Given the description of an element on the screen output the (x, y) to click on. 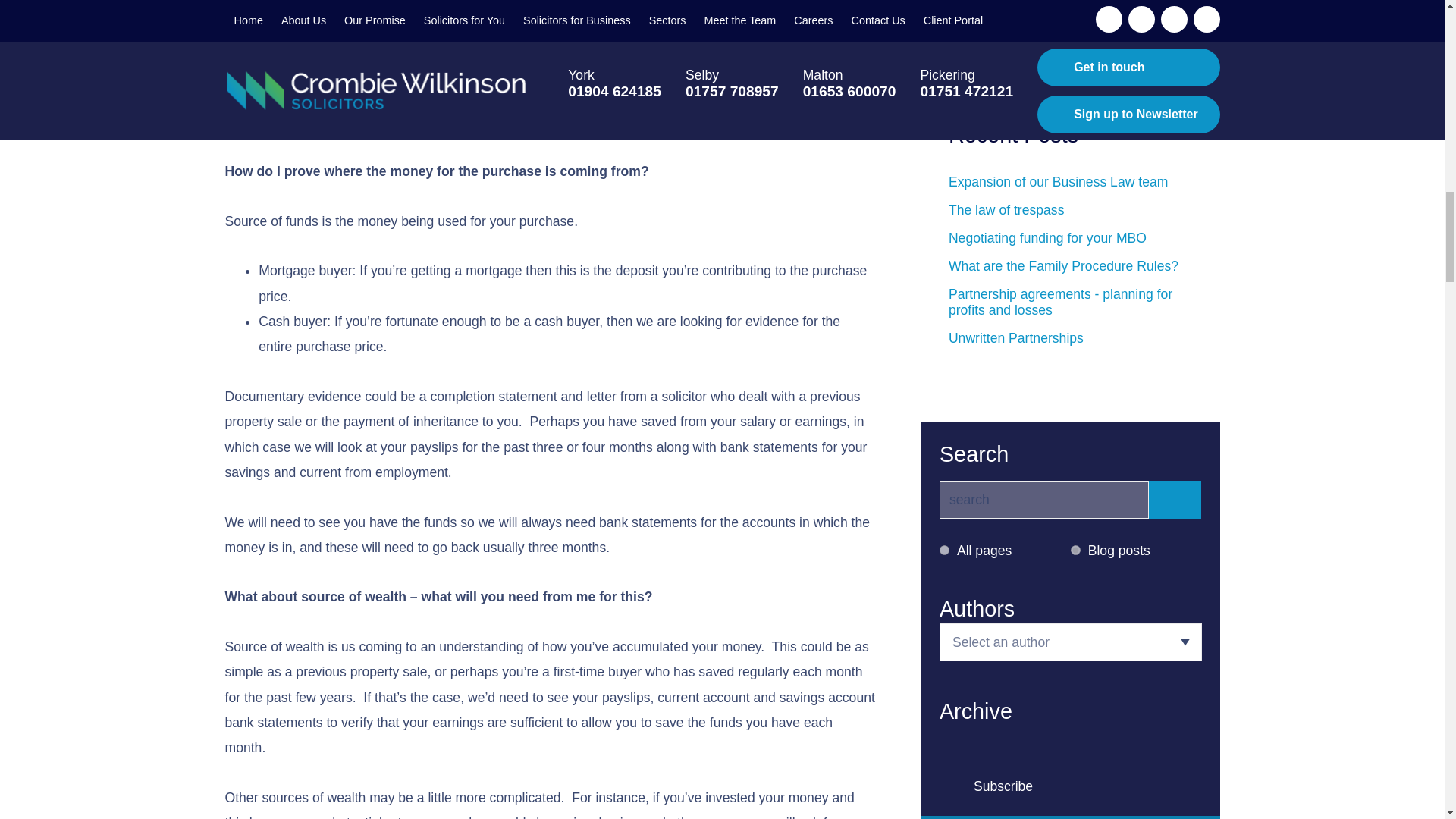
blogs (1075, 550)
search (1043, 499)
blogs (1075, 550)
all pages (944, 550)
search (1043, 499)
all pages (944, 550)
